Given the description of an element on the screen output the (x, y) to click on. 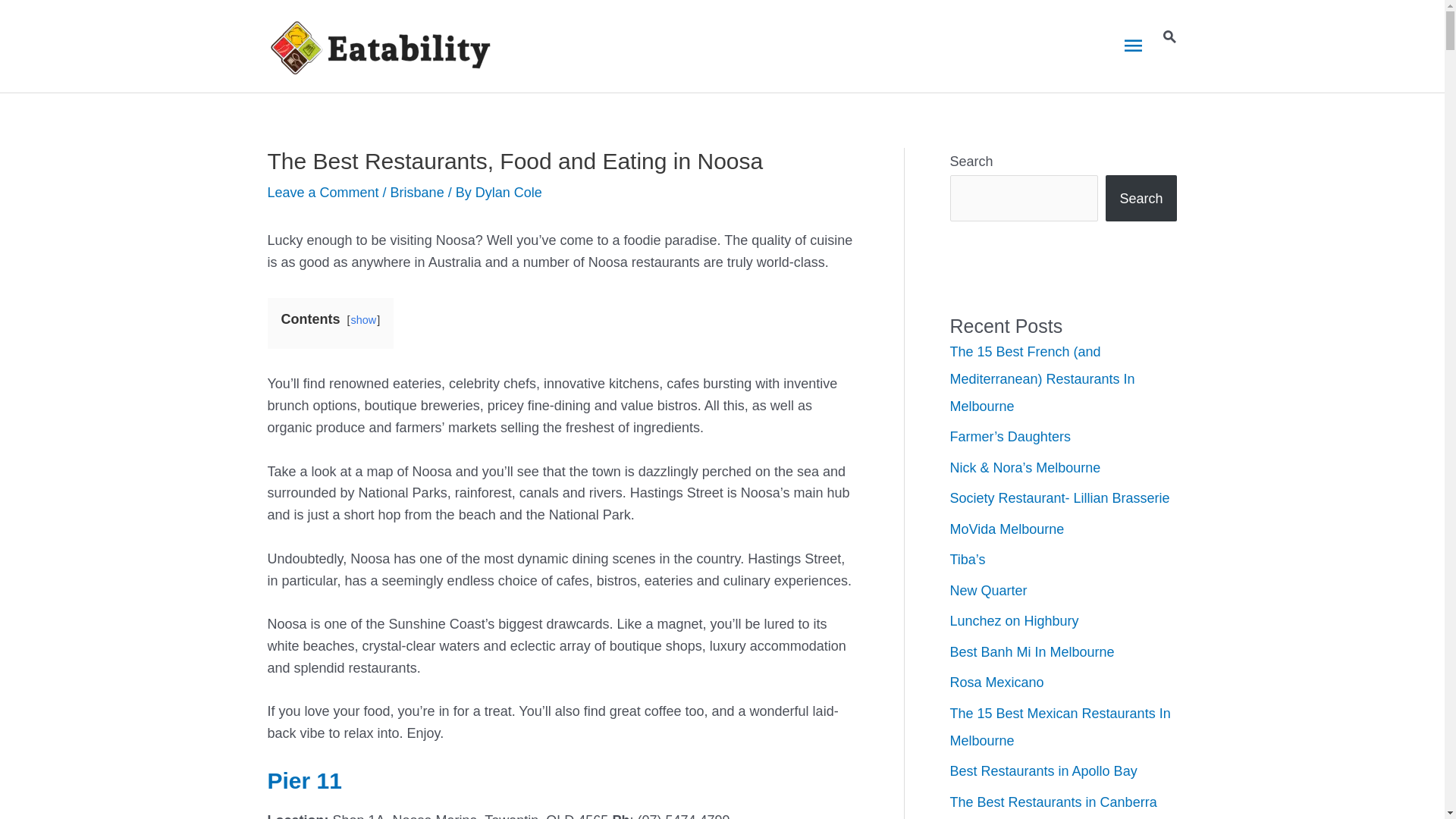
The 15 Best Mexican Restaurants In Melbourne Element type: text (1059, 727)
Best Restaurants in Apollo Bay Element type: text (1042, 770)
Search Element type: text (1140, 198)
Dylan Cole Element type: text (508, 192)
Pier 11 Element type: text (303, 780)
Society Restaurant- Lillian Brasserie Element type: text (1059, 497)
Brisbane Element type: text (417, 192)
Best Banh Mi In Melbourne Element type: text (1031, 651)
New Quarter Element type: text (987, 590)
show Element type: text (363, 319)
Leave a Comment Element type: text (322, 192)
MoVida Melbourne Element type: text (1006, 528)
The Best Restaurants in Canberra Element type: text (1052, 801)
Lunchez on Highbury Element type: text (1013, 620)
Main Menu Element type: text (1133, 45)
Rosa Mexicano Element type: text (996, 682)
